Given the description of an element on the screen output the (x, y) to click on. 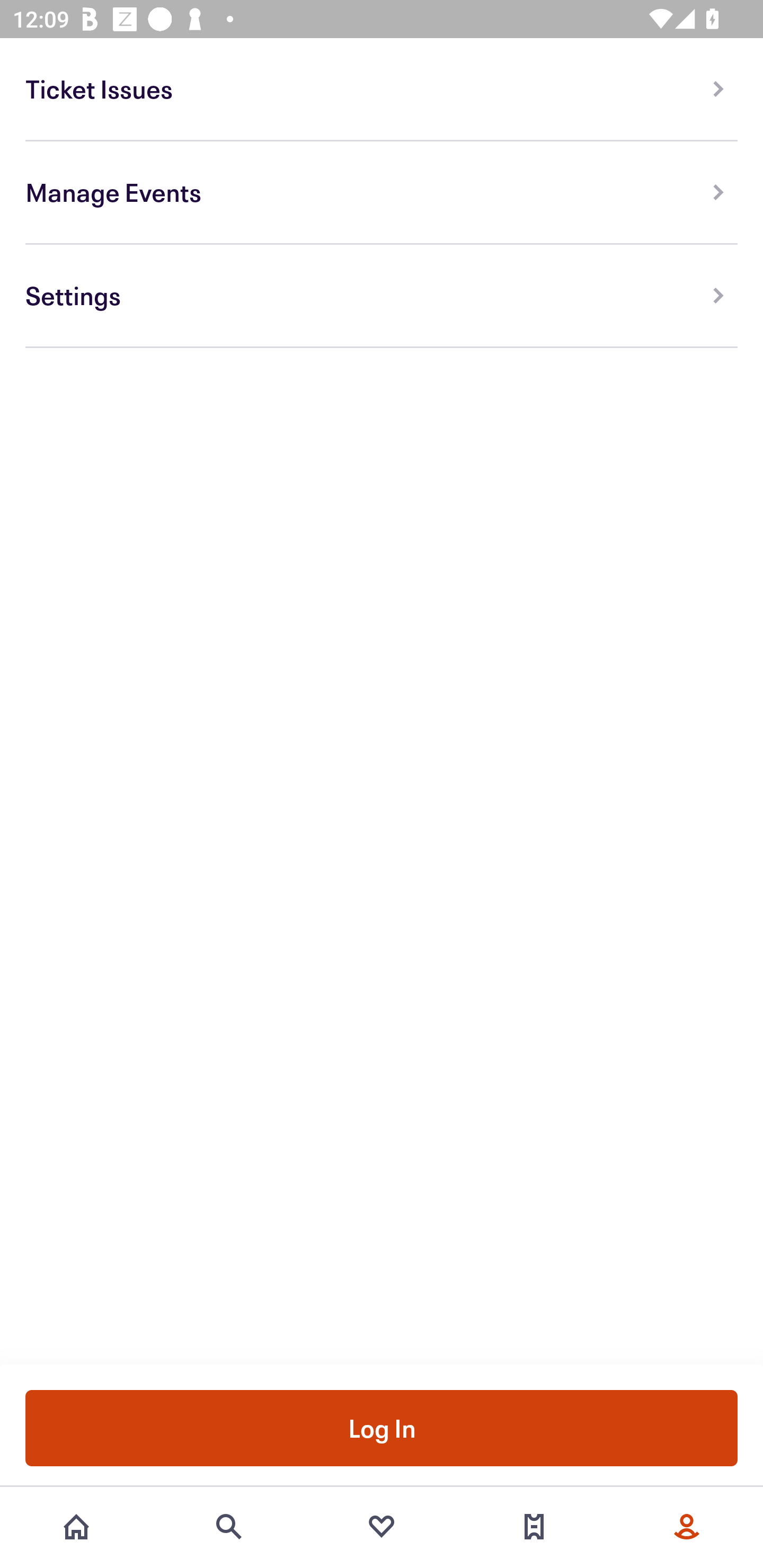
Ticket Issues (381, 89)
Manage Events (381, 192)
Settings (381, 296)
Log In (381, 1427)
Home (76, 1526)
Search events (228, 1526)
Favorites (381, 1526)
Tickets (533, 1526)
More (686, 1526)
